Given the description of an element on the screen output the (x, y) to click on. 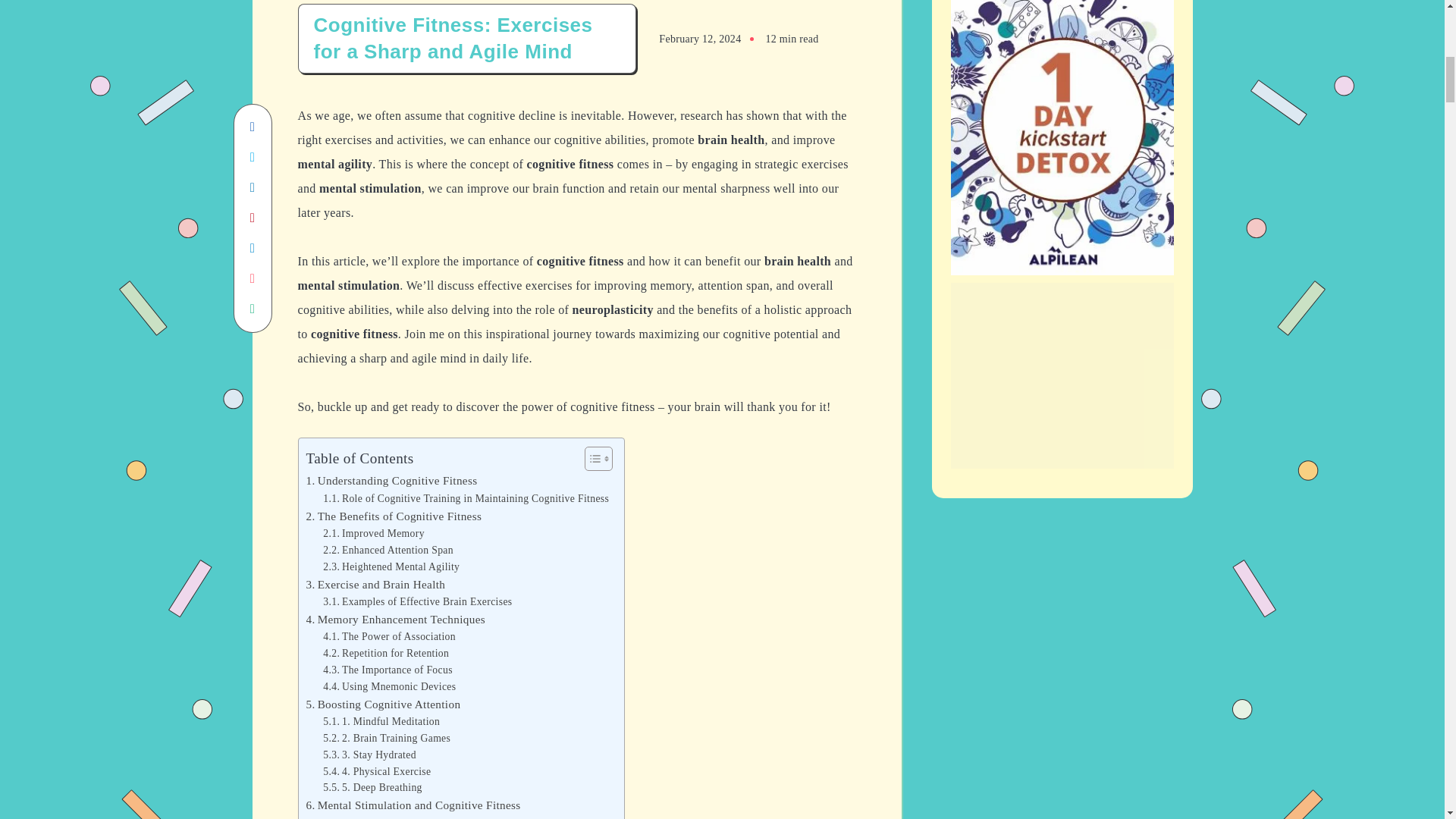
Memory Enhancement Techniques (395, 619)
Share on Email (251, 278)
The Benefits of Cognitive Fitness (393, 515)
Share on Telegram (251, 248)
The Power of Association (389, 636)
2. Brain Training Games (386, 738)
Exercise and Brain Health (375, 584)
Share on Linkedin (251, 187)
Enhanced Attention Span (387, 550)
Share on Facebook (251, 127)
Understanding Cognitive Fitness (391, 480)
Repetition for Retention (385, 653)
Boosting Cognitive Attention (383, 704)
Improved Memory (374, 533)
The Importance of Focus (387, 669)
